Given the description of an element on the screen output the (x, y) to click on. 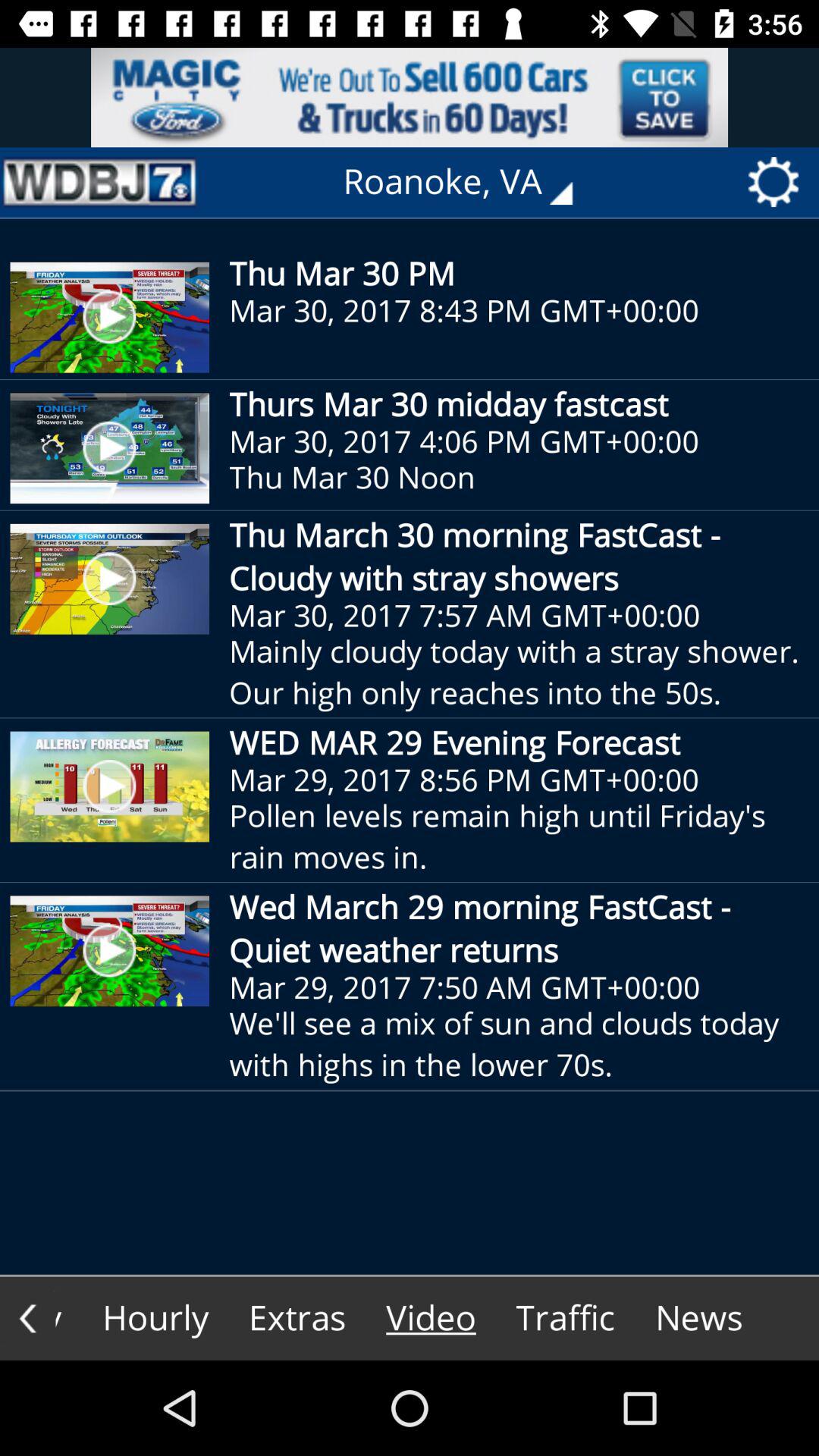
go back (27, 1318)
